Given the description of an element on the screen output the (x, y) to click on. 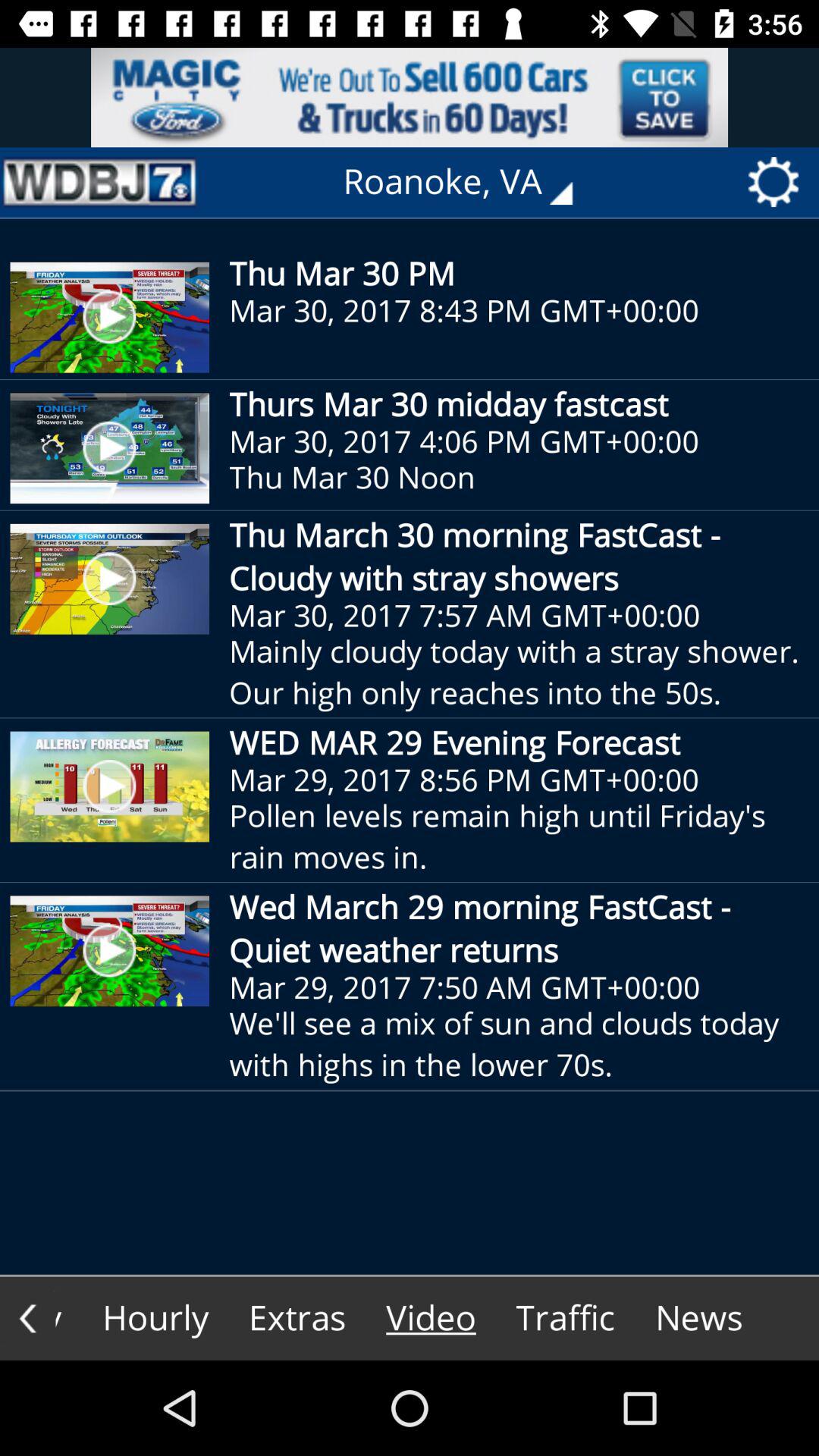
go back (27, 1318)
